Given the description of an element on the screen output the (x, y) to click on. 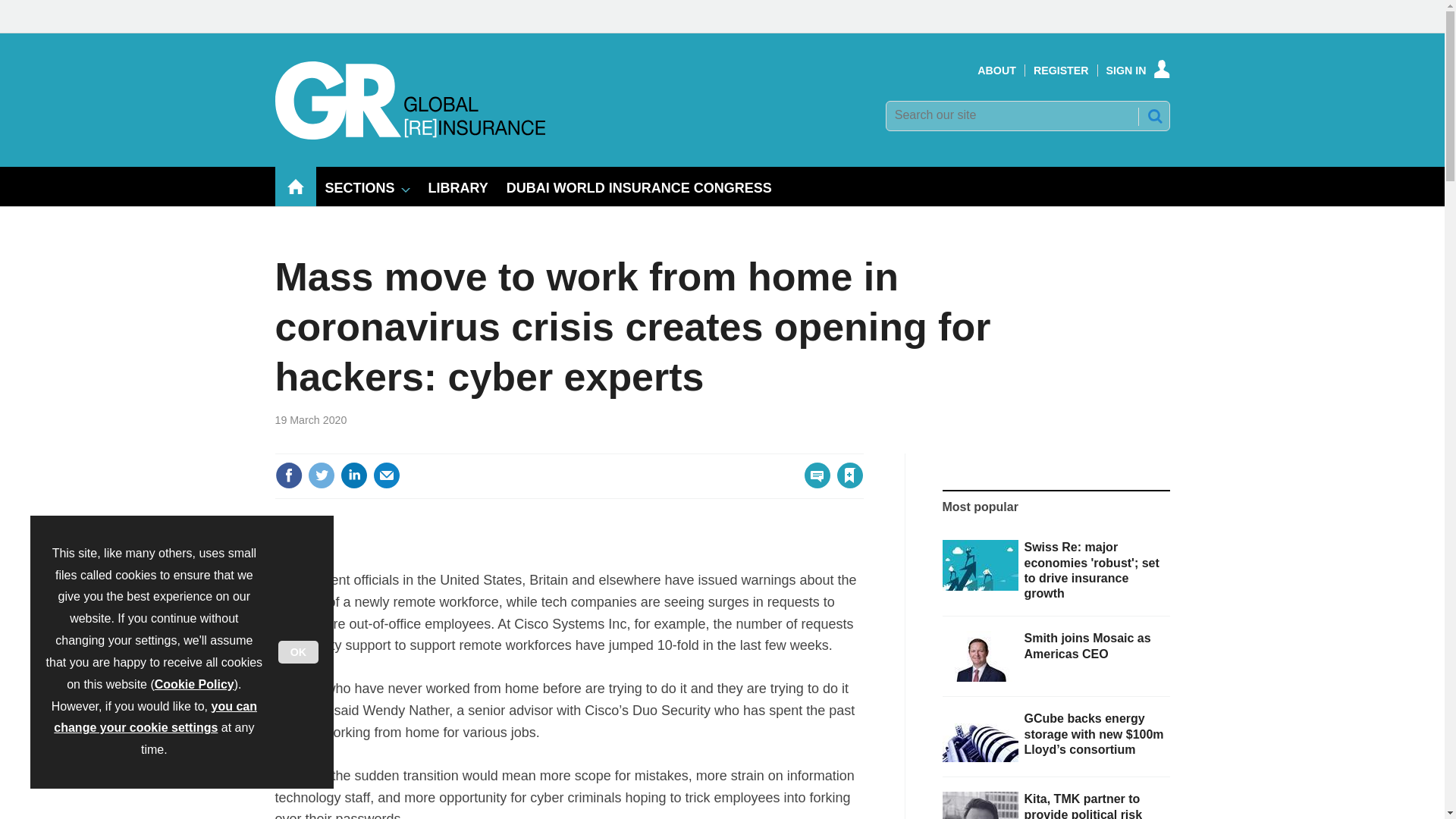
Cookie Policy (194, 684)
Email this article (386, 474)
Insert Logo text (409, 134)
DUBAI WORLD INSURANCE CONGRESS (638, 186)
ABOUT (996, 70)
LIBRARY (458, 186)
Share this on Facebook (288, 474)
you can change your cookie settings (155, 717)
Share this on Linked in (352, 474)
HOME (295, 186)
OK (298, 651)
Share this on Twitter (320, 474)
REGISTER (1061, 70)
No comments (812, 484)
SIGN IN (1138, 70)
